Given the description of an element on the screen output the (x, y) to click on. 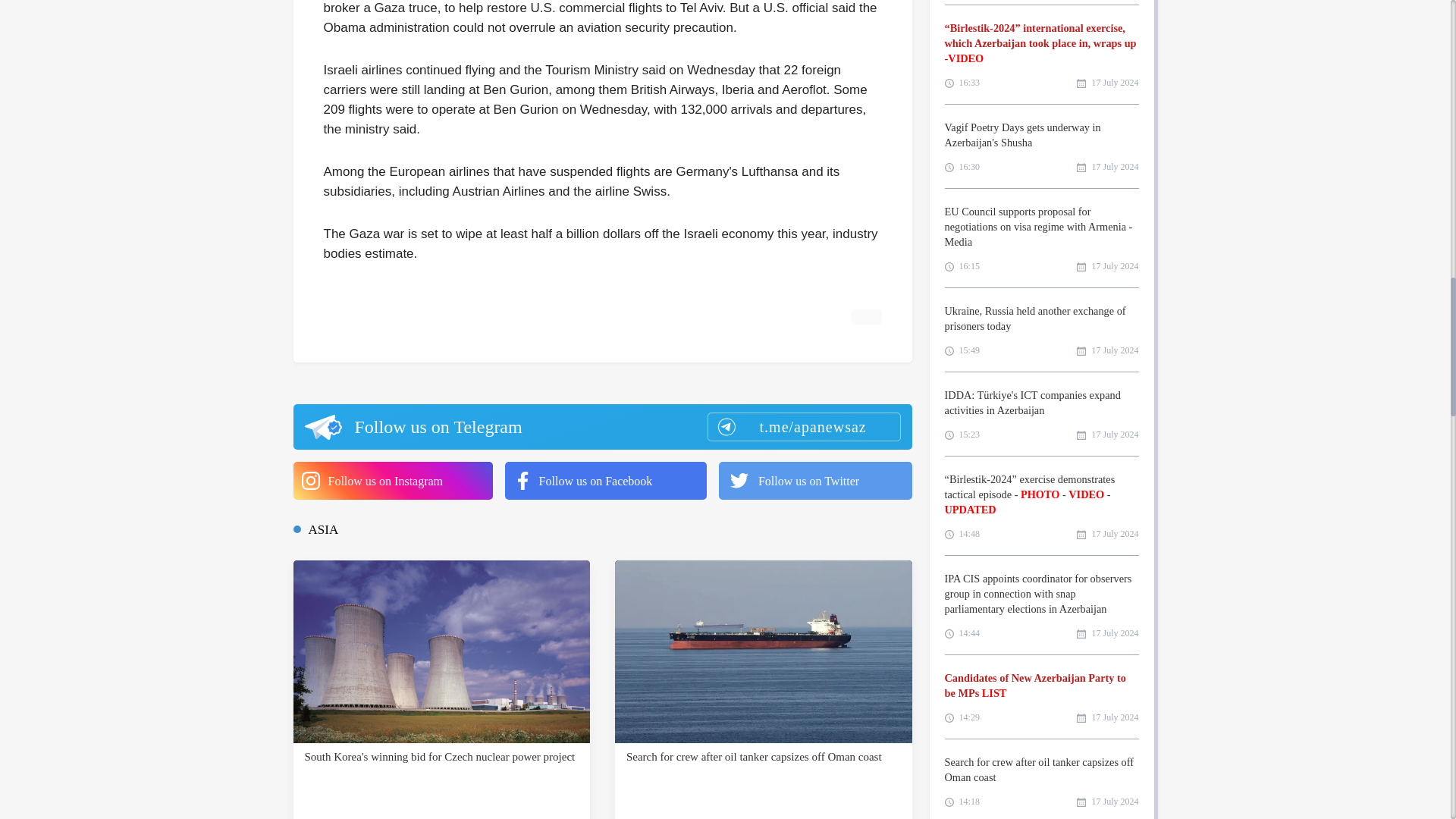
Follow us on Telegram (601, 426)
Follow us on Instagram (392, 480)
Follow us on Facebook (605, 480)
Follow us on Twitter (815, 480)
